Given the description of an element on the screen output the (x, y) to click on. 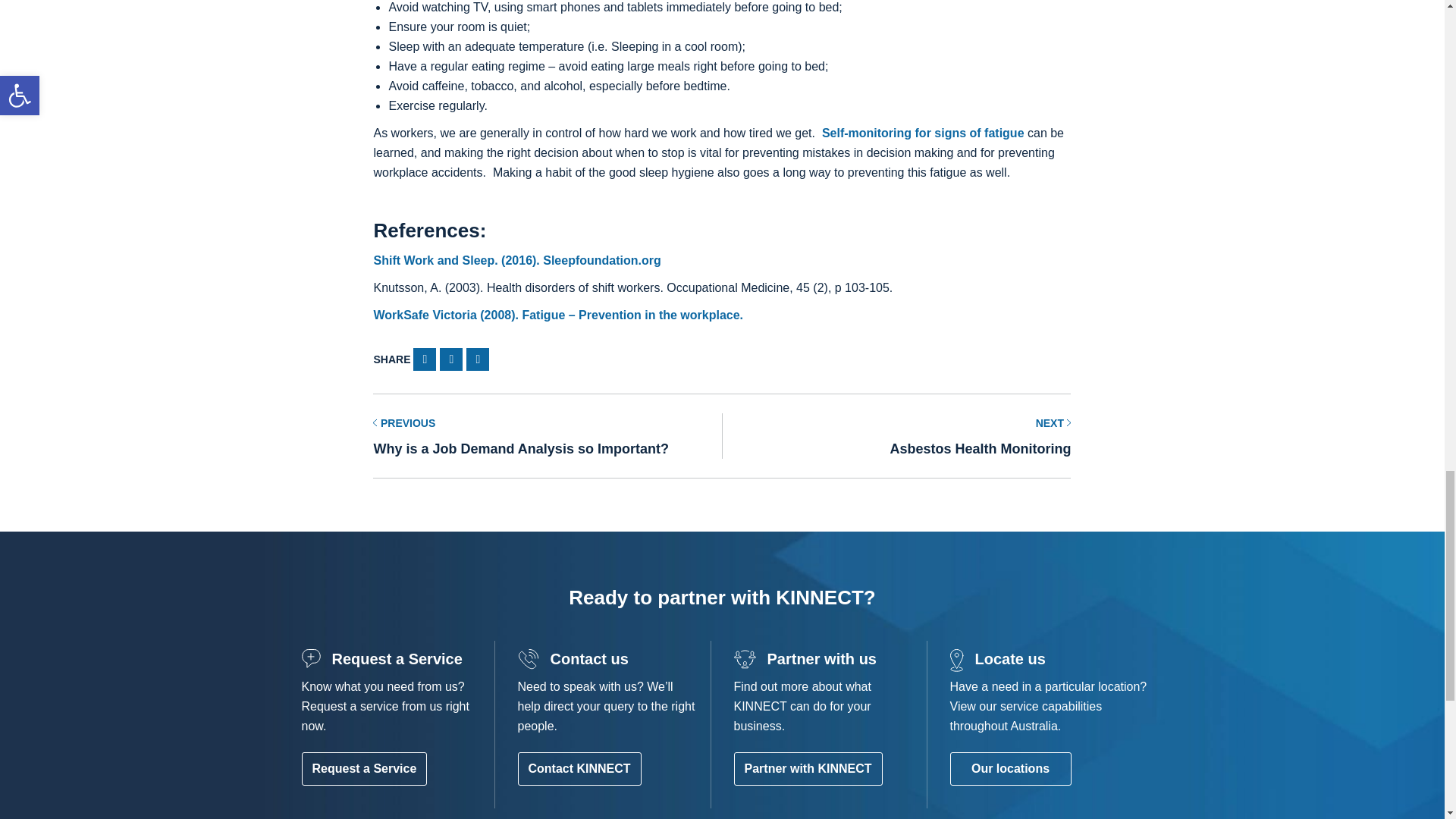
Why is a Job Demand Analysis so Important? (547, 435)
Asbestos Health Monitoring (896, 435)
